Given the description of an element on the screen output the (x, y) to click on. 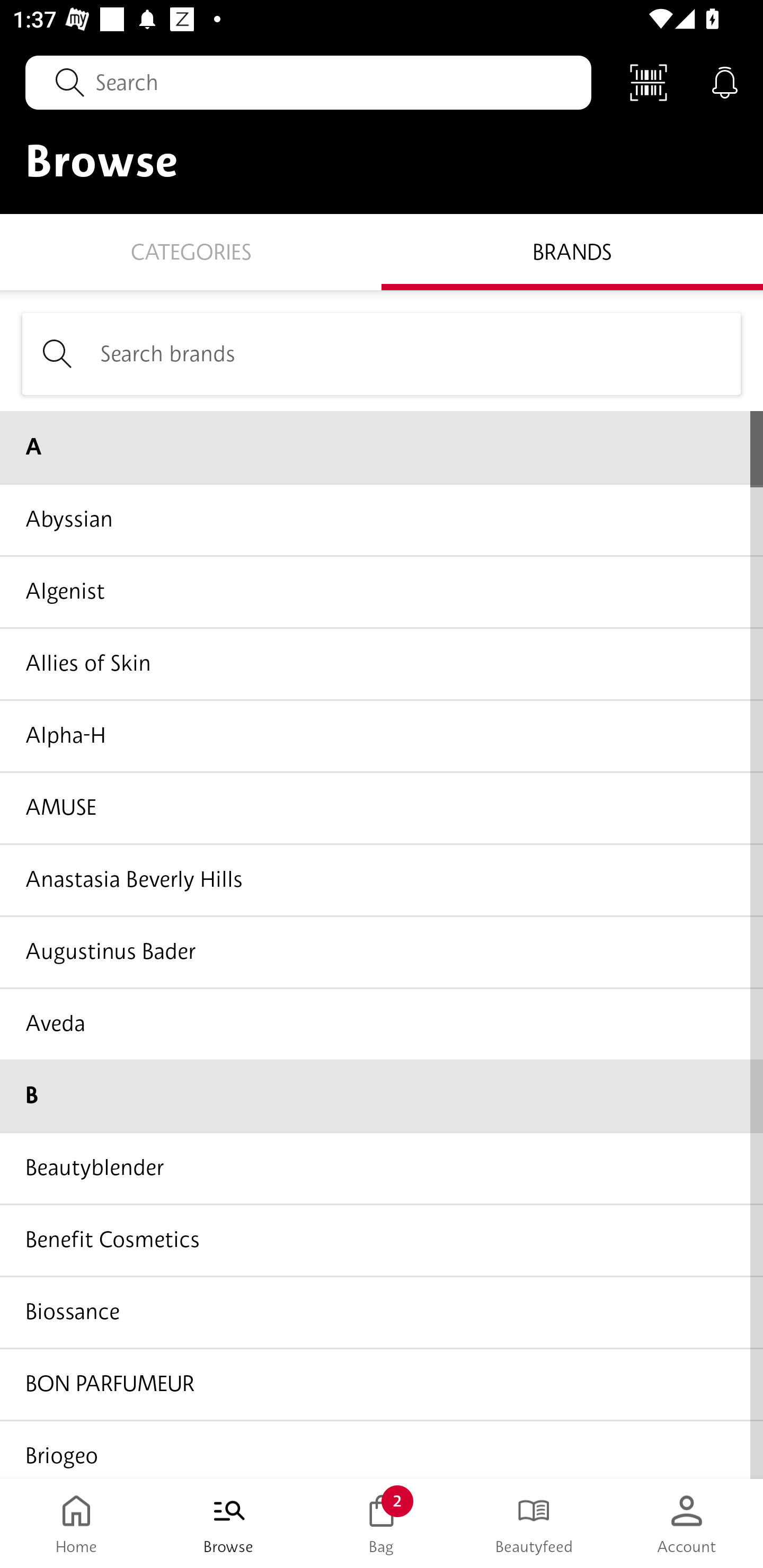
Scan Code (648, 81)
Notifications (724, 81)
Search (308, 81)
Categories CATEGORIES (190, 251)
Search brands (381, 353)
A (381, 446)
Abyssian (381, 518)
Algenist (381, 591)
Allies of Skin (381, 663)
Alpha-H (381, 735)
AMUSE (381, 807)
Anastasia Beverly Hills (381, 879)
Augustinus Bader (381, 951)
Aveda (381, 1023)
B (381, 1095)
Beautyblender (381, 1168)
Benefit Cosmetics (381, 1240)
Biossance (381, 1311)
BON PARFUMEUR (381, 1382)
Briogeo (381, 1448)
Home (76, 1523)
Bag 2 Bag (381, 1523)
Beautyfeed (533, 1523)
Account (686, 1523)
